Given the description of an element on the screen output the (x, y) to click on. 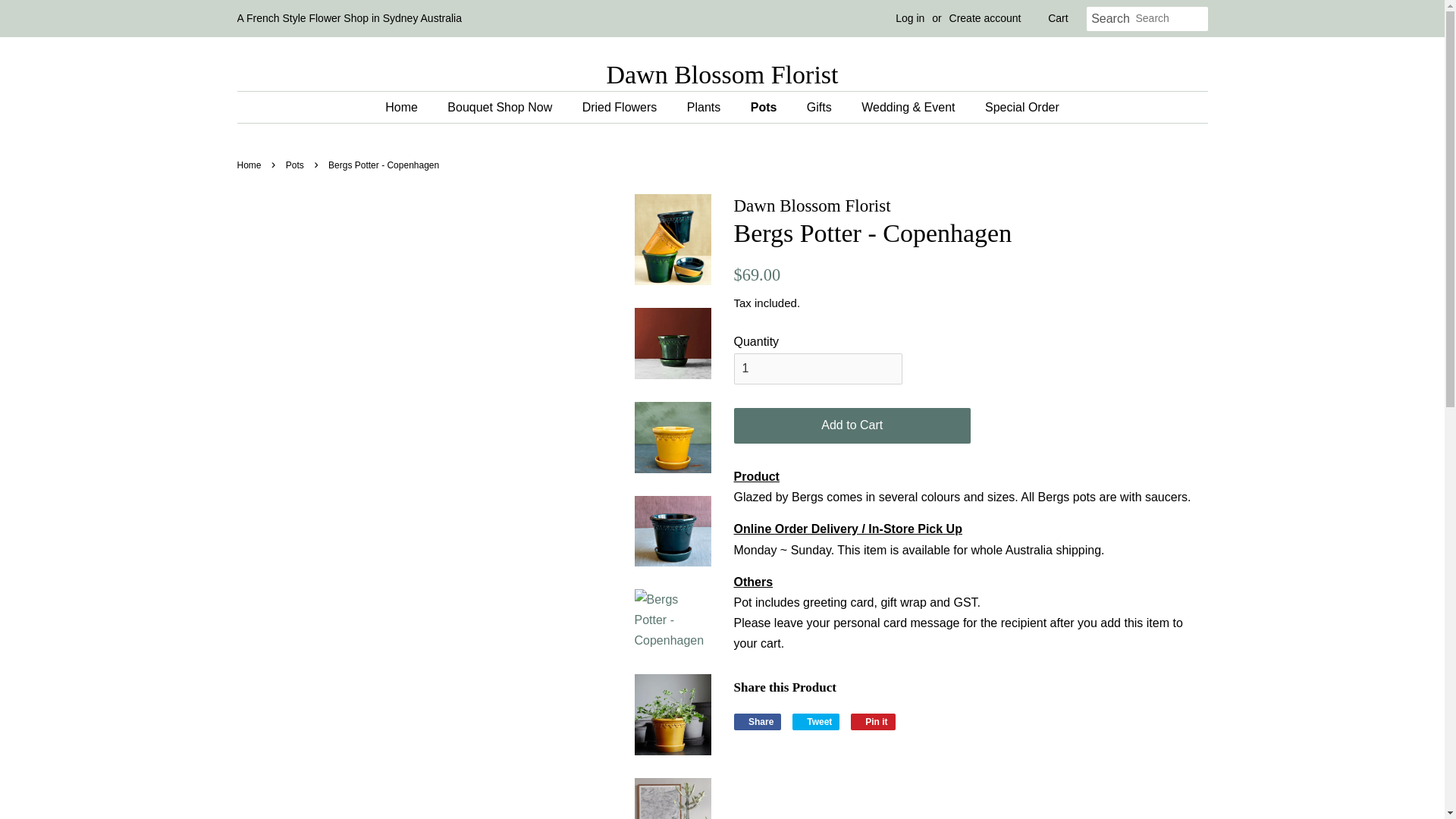
Search (1110, 18)
Pots (296, 164)
Create account (872, 721)
Log in (985, 18)
Pin on Pinterest (757, 721)
Home (909, 18)
Share on Facebook (816, 721)
Dried Flowers (872, 721)
Home (408, 106)
1 (757, 721)
Bouquet Shop Now (621, 106)
Plants (249, 164)
